Given the description of an element on the screen output the (x, y) to click on. 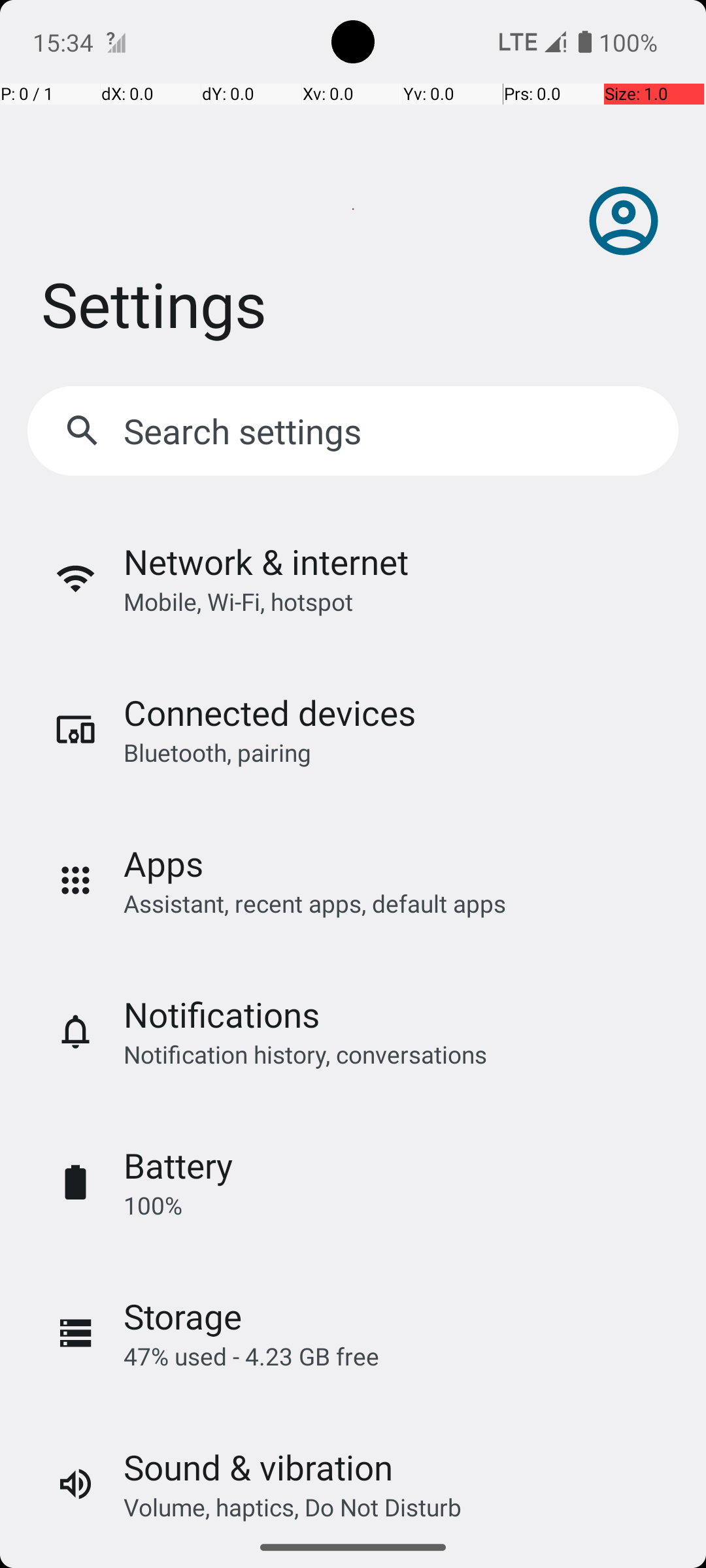
47% used - 4.23 GB free Element type: android.widget.TextView (251, 1355)
